Given the description of an element on the screen output the (x, y) to click on. 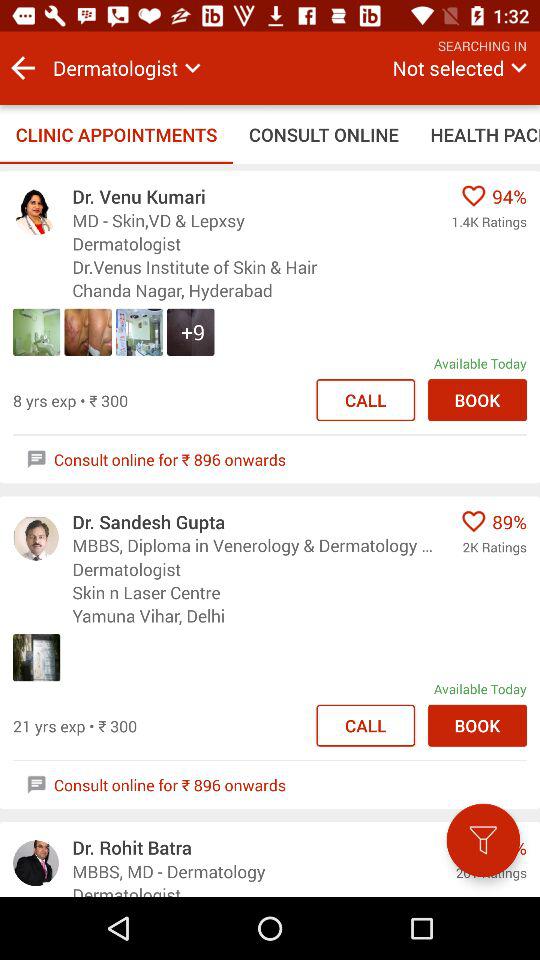
filter option (483, 840)
